Given the description of an element on the screen output the (x, y) to click on. 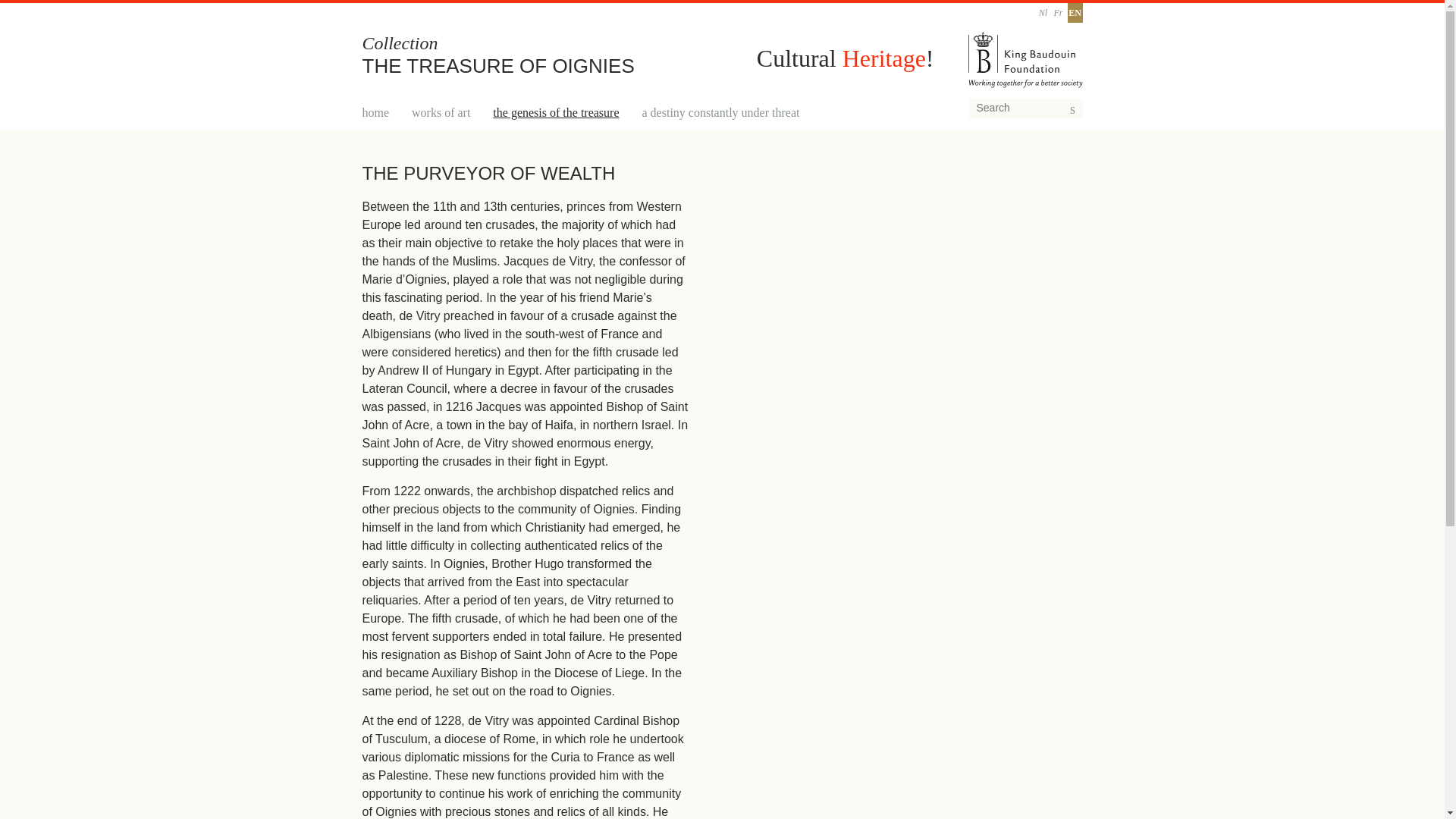
works of art (441, 112)
THE TREASURE OF OIGNIES (498, 65)
a destiny constantly under threat (720, 112)
the genesis of the treasure (555, 112)
Cultural Heritage! (845, 58)
Skip to navigation (27, 0)
home (376, 112)
Search (1093, 112)
Collection (400, 43)
Search (1093, 112)
Enter the terms you wish to search for. (1026, 107)
